Given the description of an element on the screen output the (x, y) to click on. 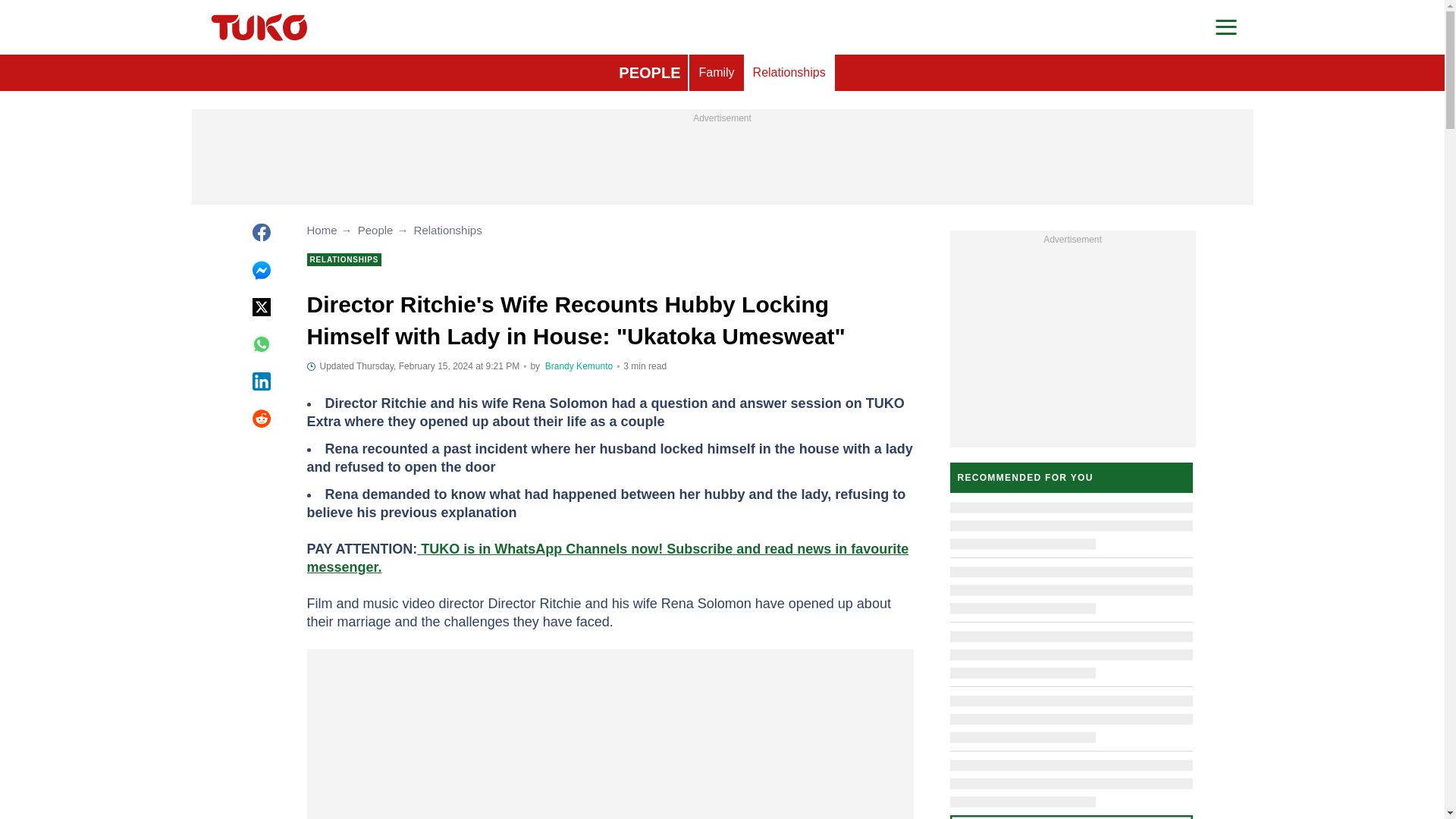
Relationships (789, 72)
PEOPLE (649, 72)
Family (715, 72)
Author page (578, 366)
